Given the description of an element on the screen output the (x, y) to click on. 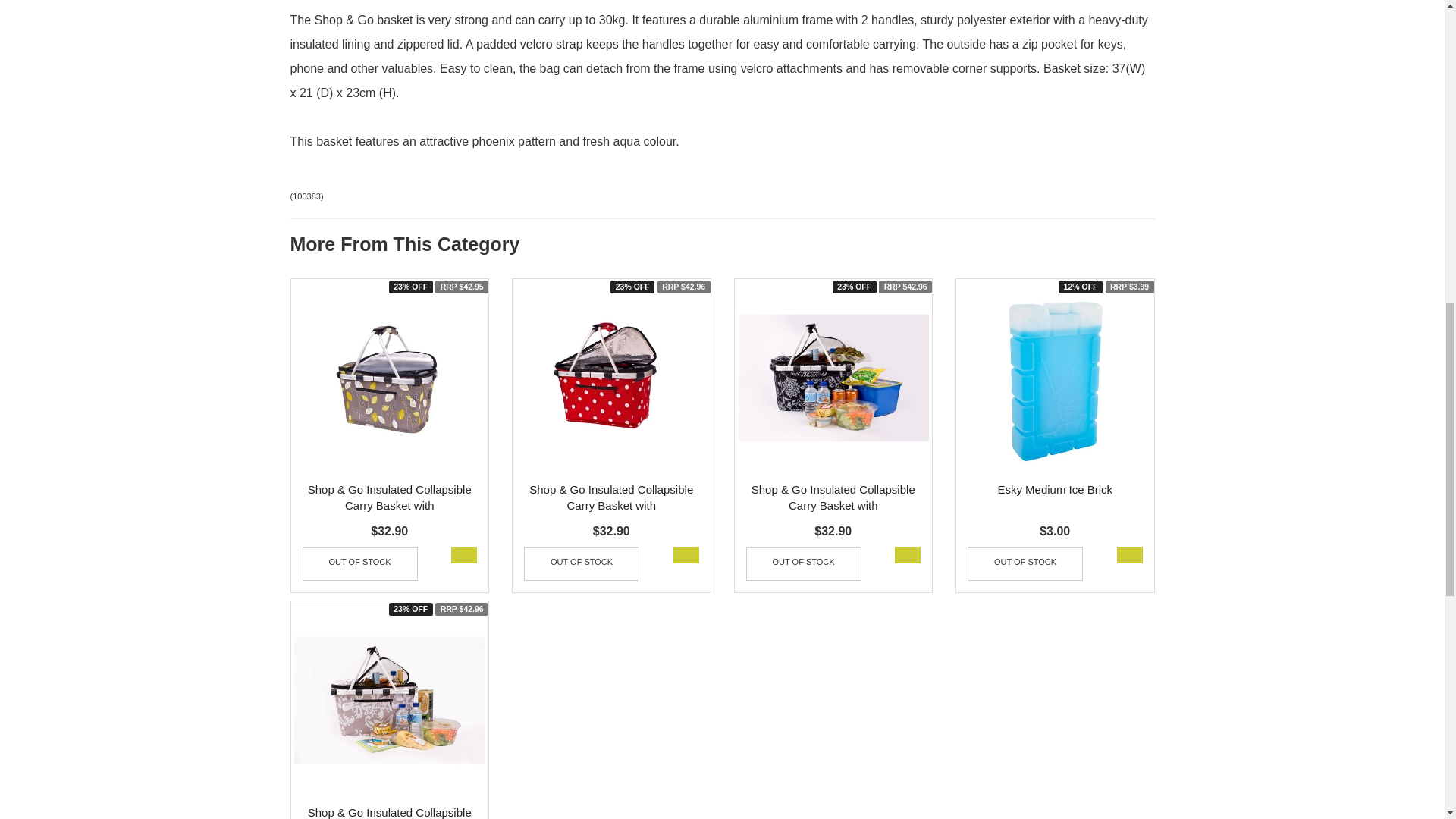
Notify Me When Back In Stock (1025, 563)
Esky Medium Ice Brick (1054, 489)
Notify Me When Back In Stock (581, 563)
Notify Me When Back In Stock (358, 563)
Notify Me When Back In Stock (803, 563)
